Given the description of an element on the screen output the (x, y) to click on. 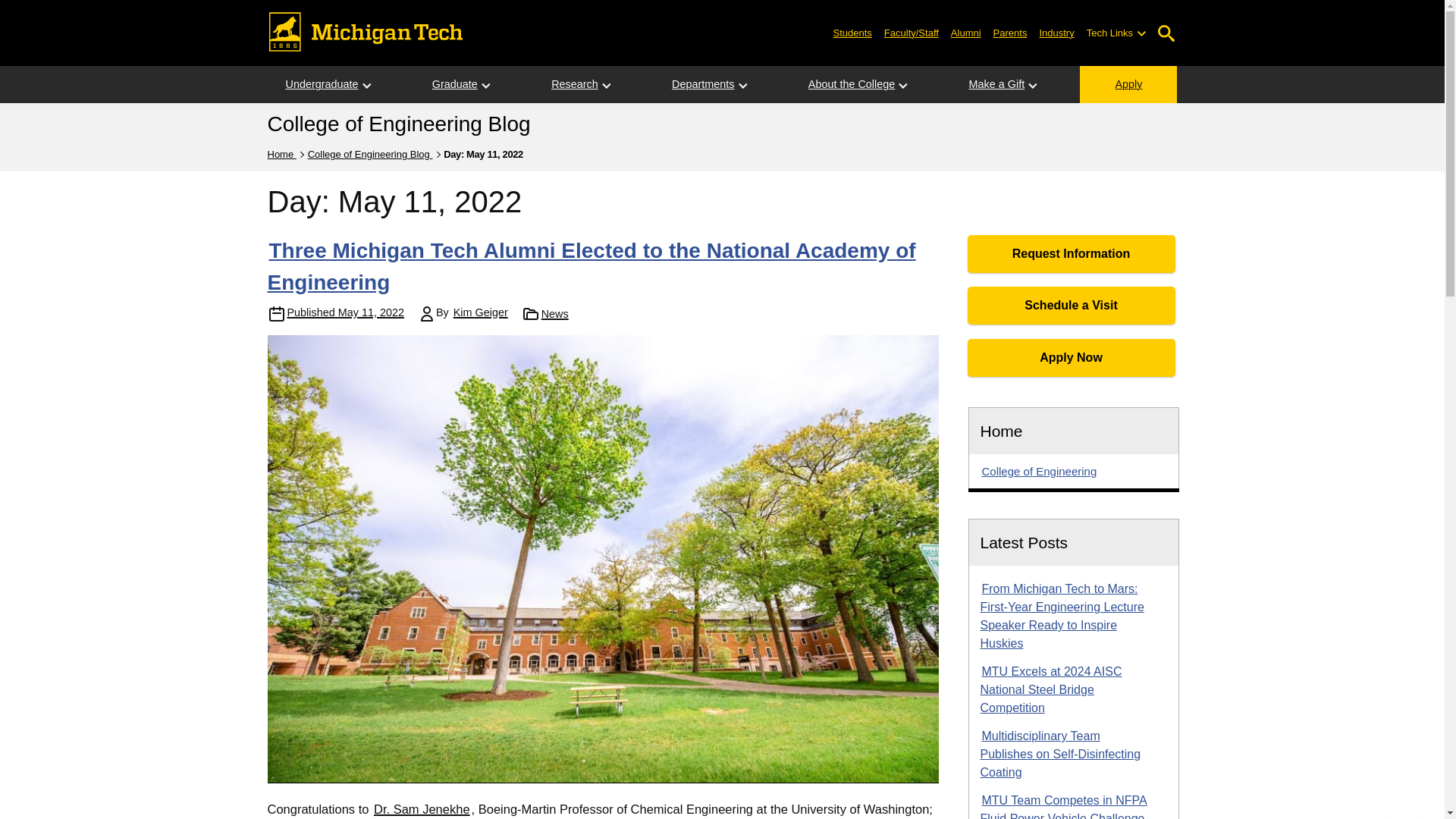
Graduate (454, 84)
Undergraduate (320, 84)
Parents (1010, 32)
Industry (1056, 32)
Open Search (1166, 33)
Alumni (965, 32)
Students (852, 32)
